Given the description of an element on the screen output the (x, y) to click on. 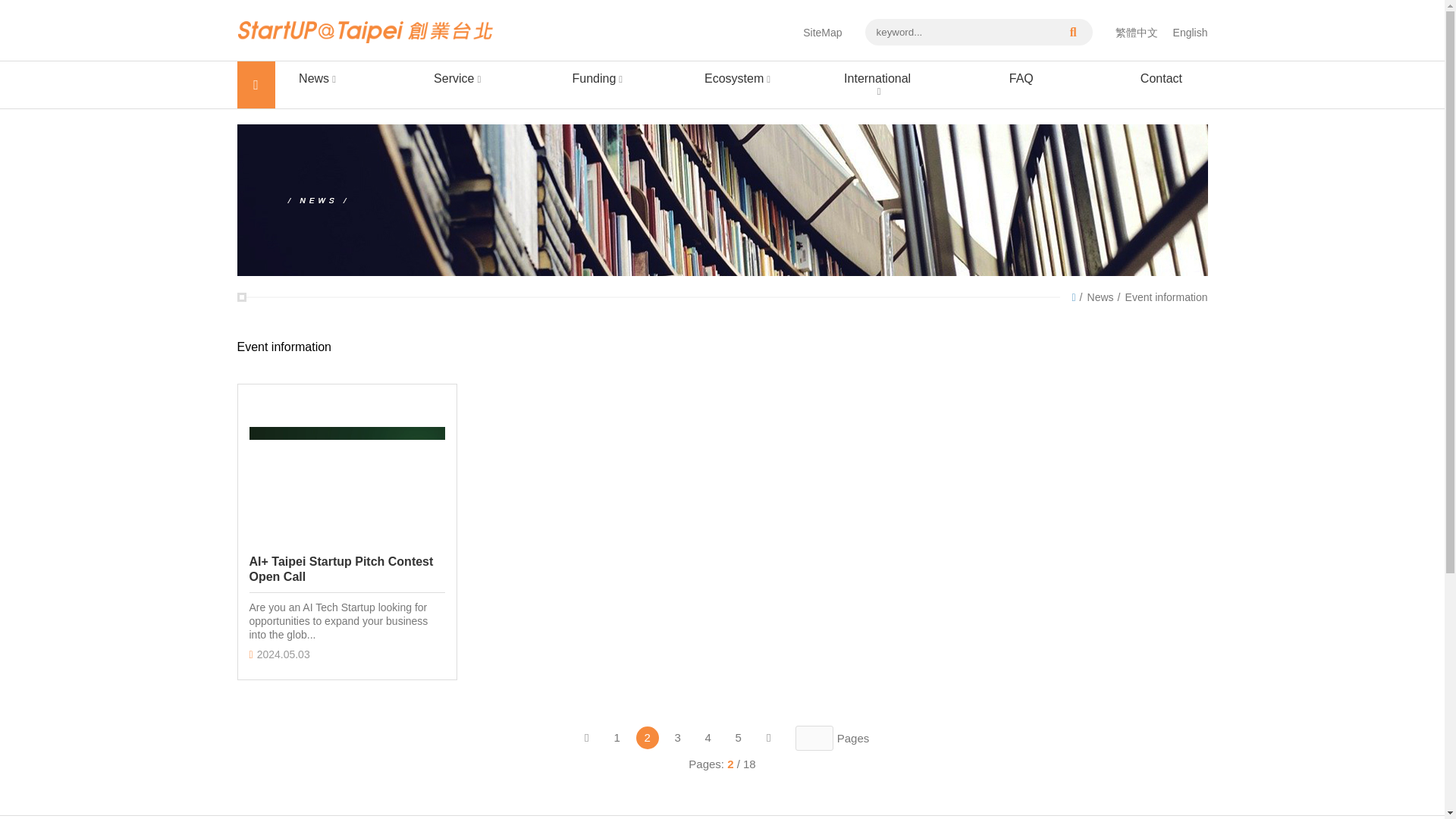
News (320, 78)
English (1190, 31)
Service (460, 78)
News (320, 78)
Funding (600, 78)
Funding (600, 78)
News (1100, 297)
International (880, 84)
Service (460, 78)
Ecosystem (740, 78)
English (1190, 31)
SiteMap (822, 31)
SiteMap (822, 31)
Ecosystem (740, 78)
Contact (1161, 78)
